Given the description of an element on the screen output the (x, y) to click on. 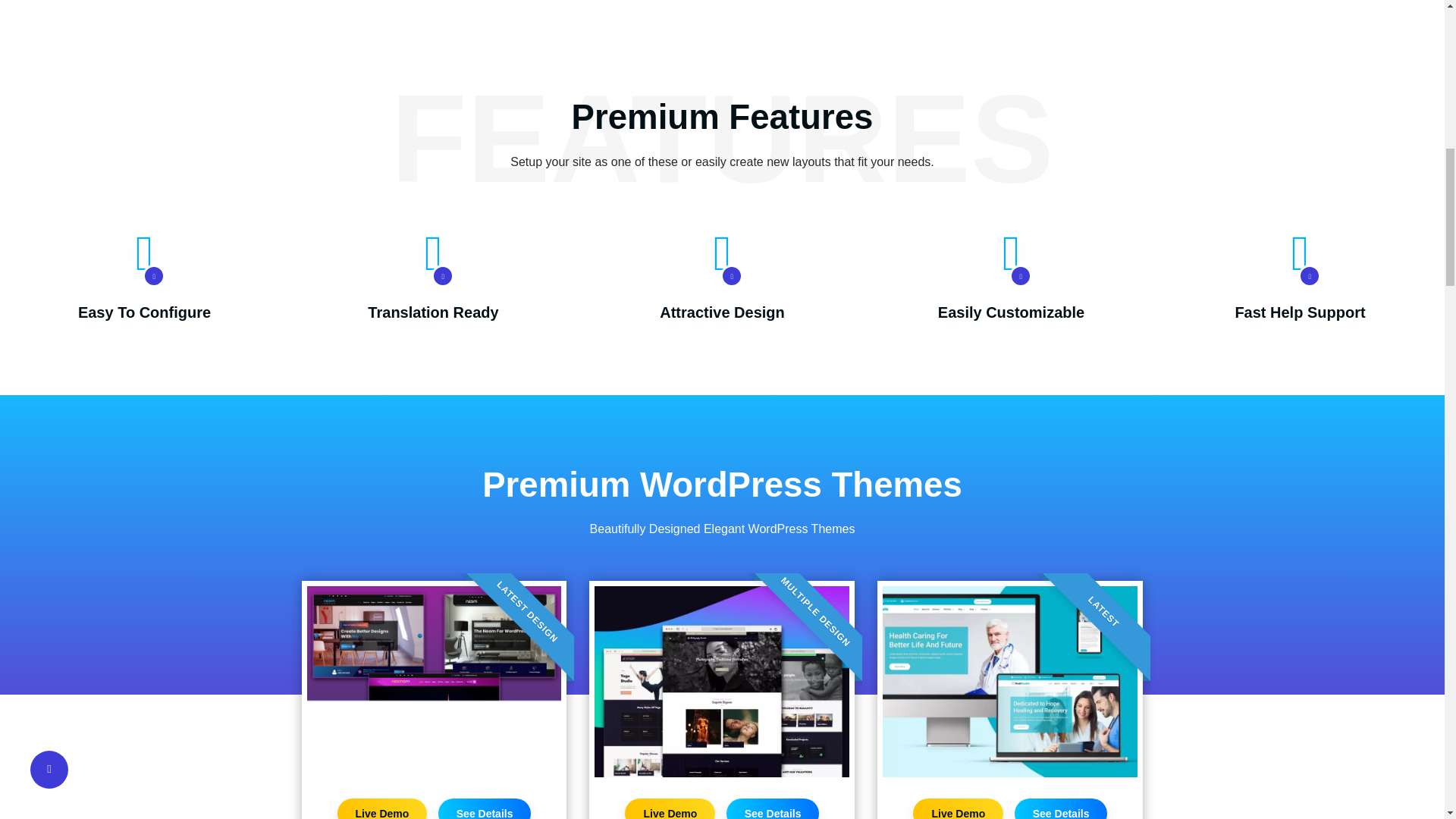
Live Demo (957, 808)
See Details (772, 808)
Live Demo (669, 808)
See Details (1061, 808)
Live Demo (381, 808)
See Details (484, 808)
